Given the description of an element on the screen output the (x, y) to click on. 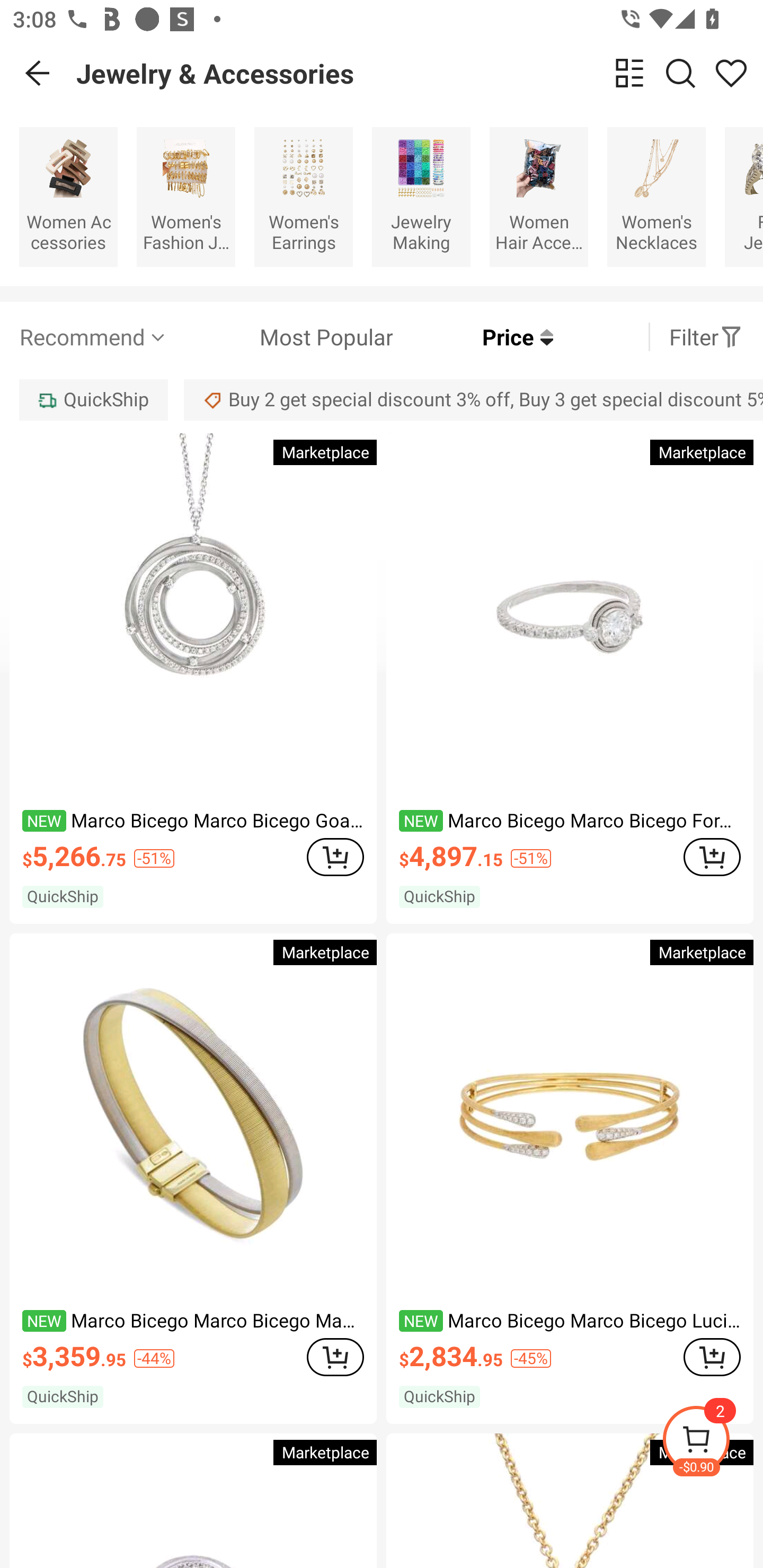
Jewelry & Accessories change view Search Share (419, 72)
change view (629, 72)
Search (679, 72)
Share (730, 72)
Women Accessories (68, 196)
Women's Fashion Jewelry (185, 196)
Women's Earrings (303, 196)
Jewelry Making (421, 196)
Women Hair Accessories (538, 196)
Women's Necklaces (656, 196)
Recommend (93, 336)
Most Popular (280, 336)
Price (472, 336)
Filter (705, 336)
QuickShip (93, 399)
ADD TO CART (334, 856)
ADD TO CART (711, 856)
ADD TO CART (334, 1356)
ADD TO CART (711, 1356)
-$0.90 (712, 1441)
